Given the description of an element on the screen output the (x, y) to click on. 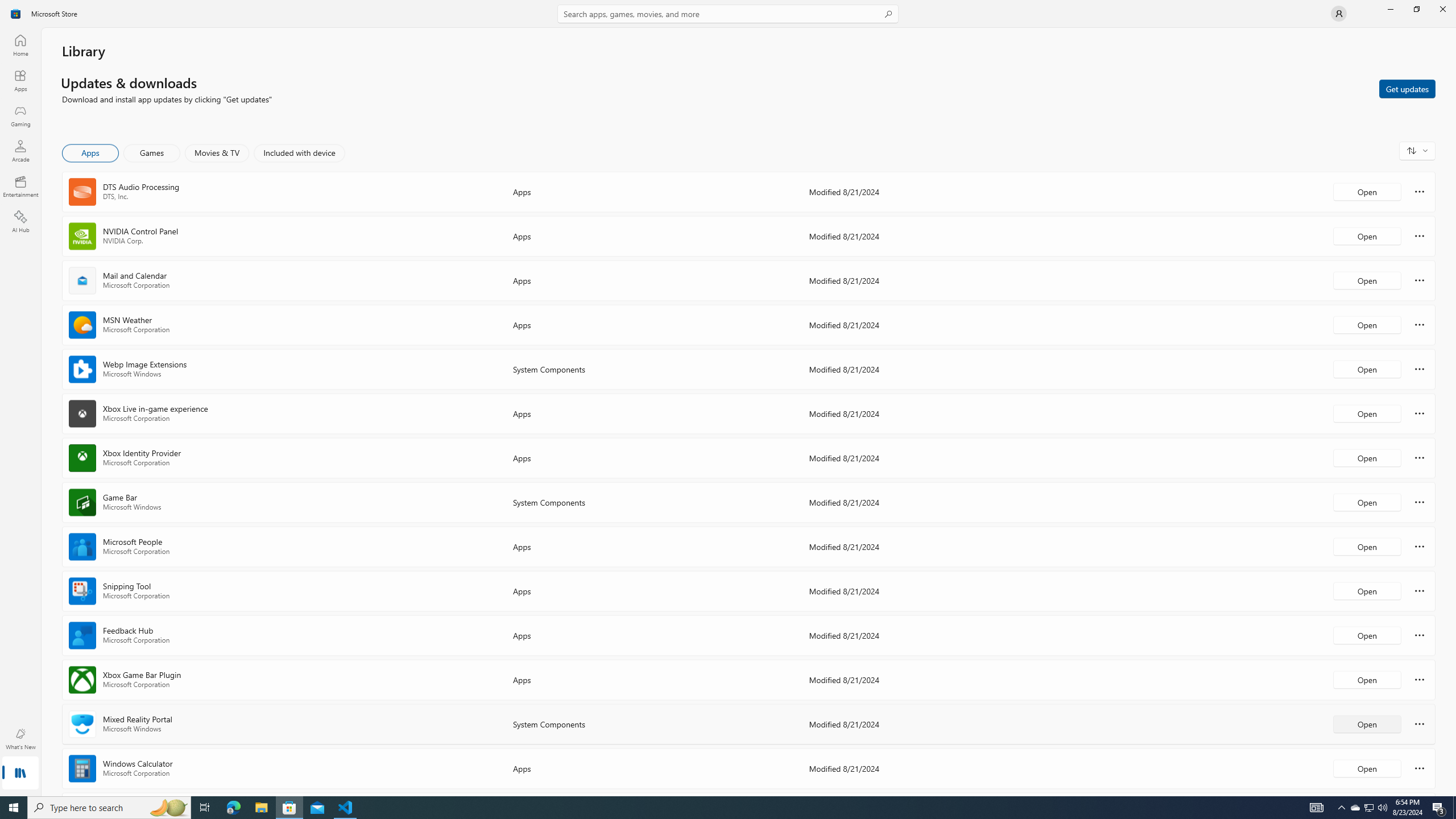
Class: Image (15, 13)
Close Microsoft Store (1442, 9)
Home (20, 45)
Arcade (20, 150)
More options (1419, 768)
Games (151, 153)
Minimize Microsoft Store (1390, 9)
Gaming (20, 115)
User profile (1338, 13)
Included with device (299, 153)
What's New (20, 738)
Apps (90, 153)
Open (1366, 768)
Library (20, 773)
Sort and filter (1417, 149)
